Given the description of an element on the screen output the (x, y) to click on. 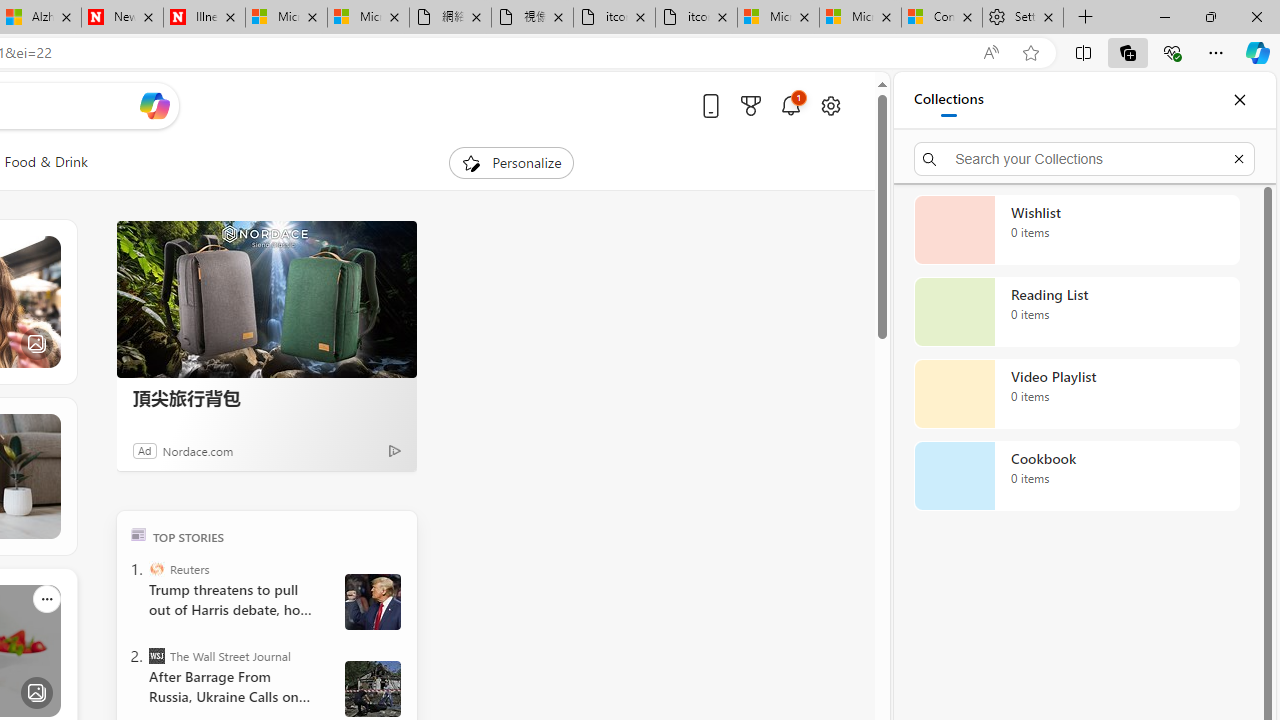
Ad Choice (394, 449)
Nordace.com (198, 450)
Newsweek - News, Analysis, Politics, Business, Technology (121, 17)
Personalize (511, 162)
Exit search (1238, 158)
Reuters (156, 568)
